Given the description of an element on the screen output the (x, y) to click on. 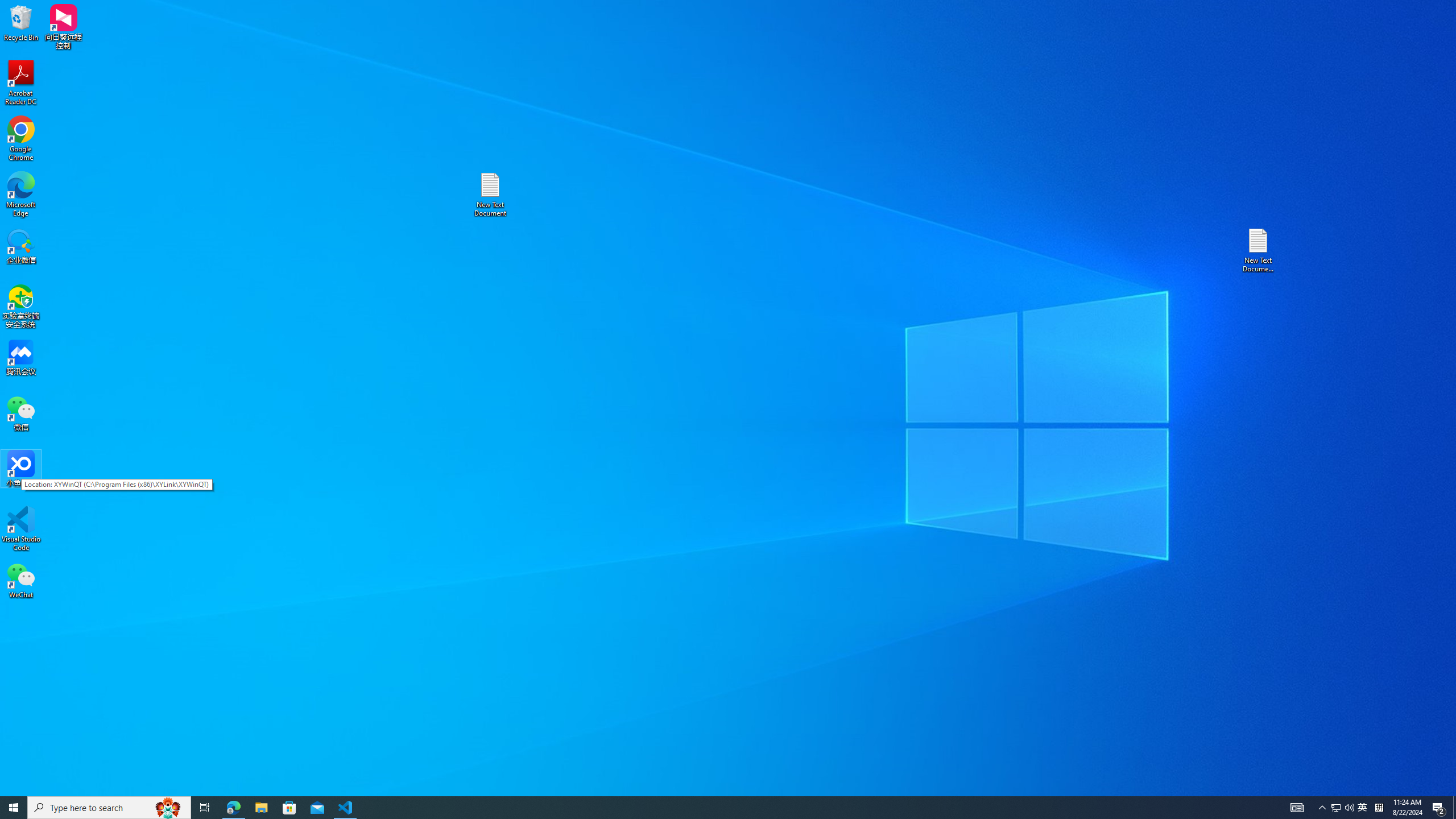
Running applications (707, 807)
Microsoft Edge (21, 194)
Task View (204, 807)
New Text Document (489, 194)
Visual Studio Code - 1 running window (345, 807)
New Text Document (2) (1258, 250)
Start (13, 807)
WeChat (1362, 807)
Search highlights icon opens search home window (1335, 807)
Microsoft Edge - 1 running window (21, 580)
